Given the description of an element on the screen output the (x, y) to click on. 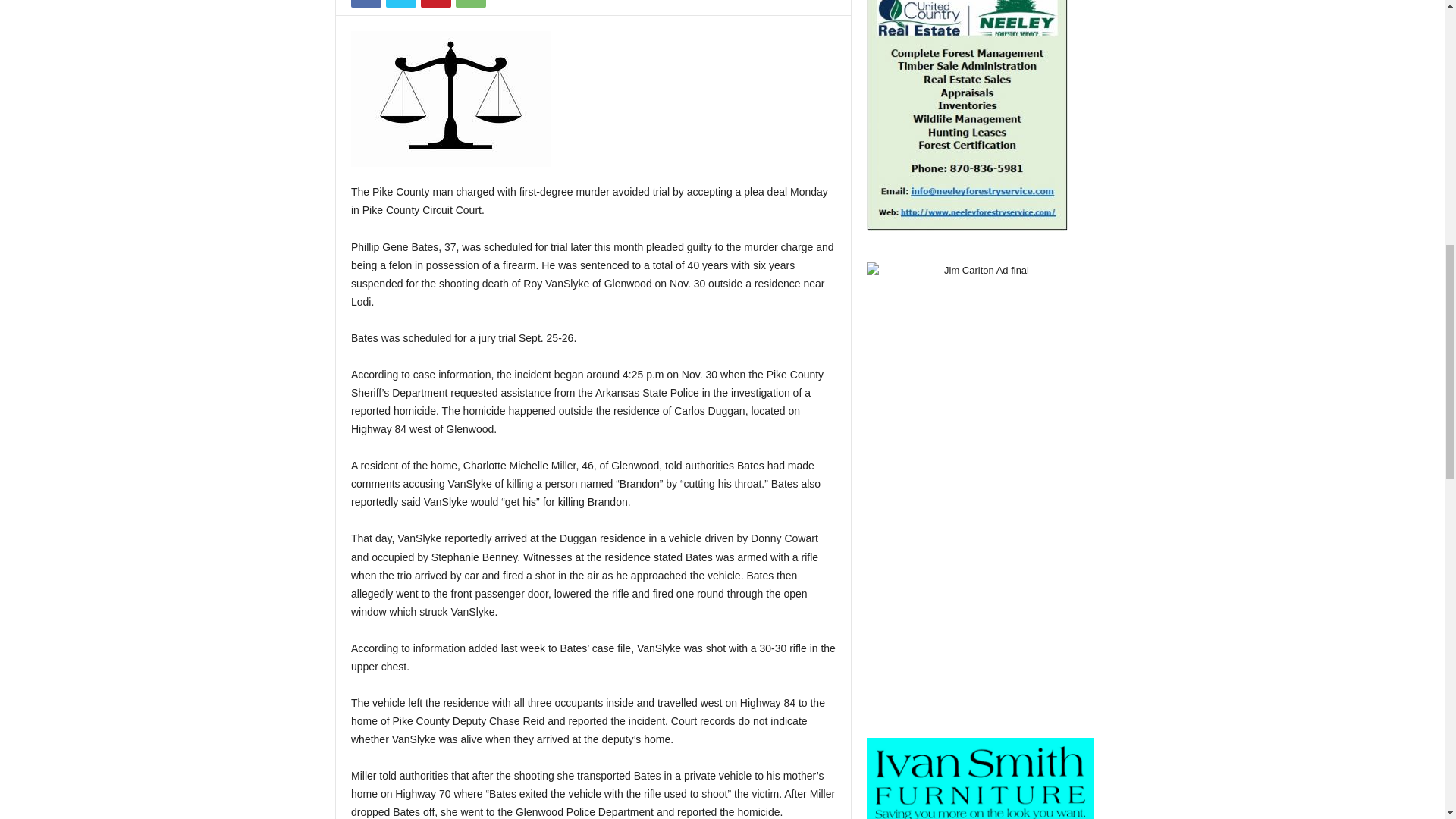
Pinterest (435, 3)
Facebook (365, 3)
Twitter (400, 3)
WhatsApp (470, 3)
